Given the description of an element on the screen output the (x, y) to click on. 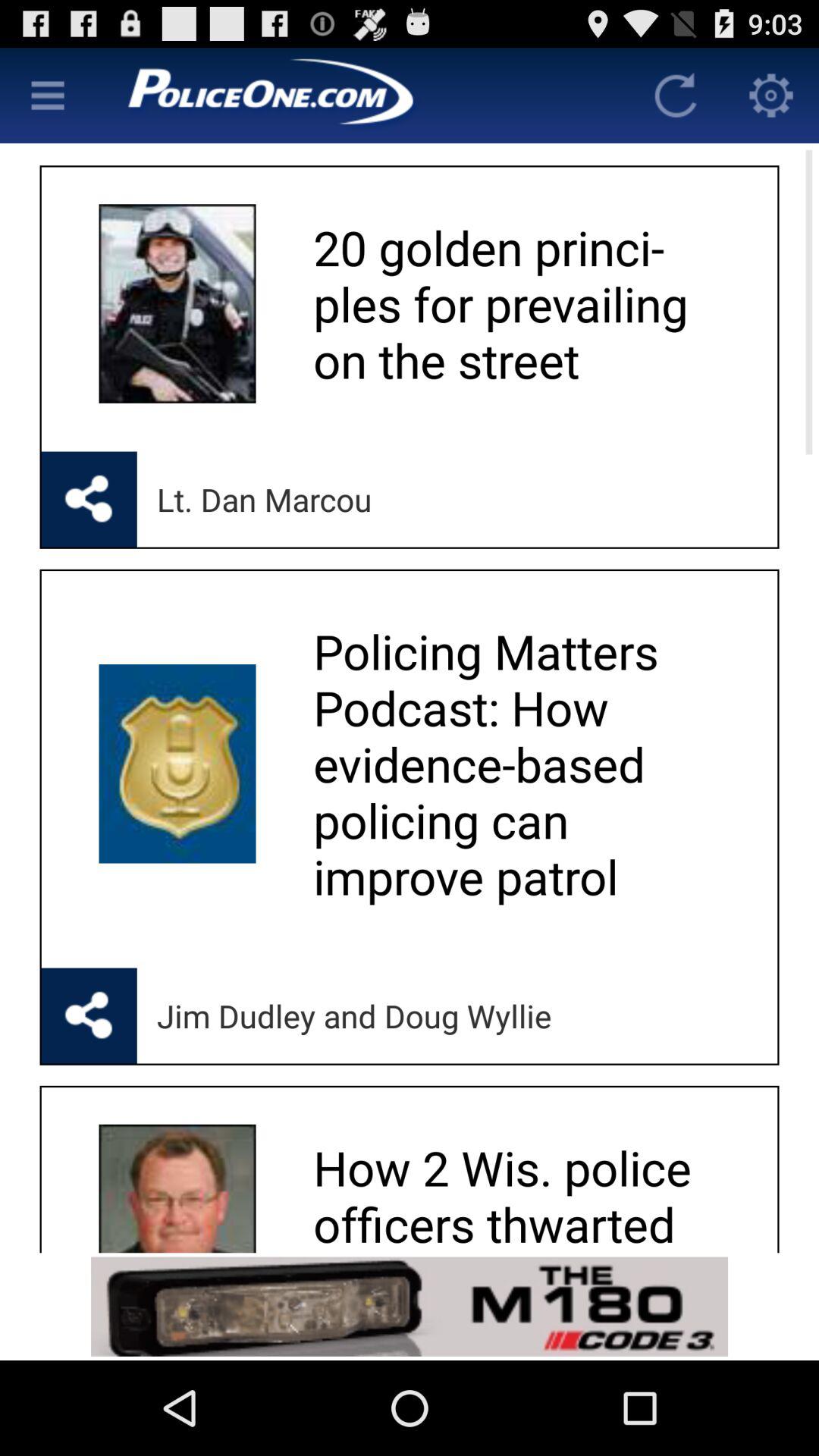
settings (771, 95)
